Given the description of an element on the screen output the (x, y) to click on. 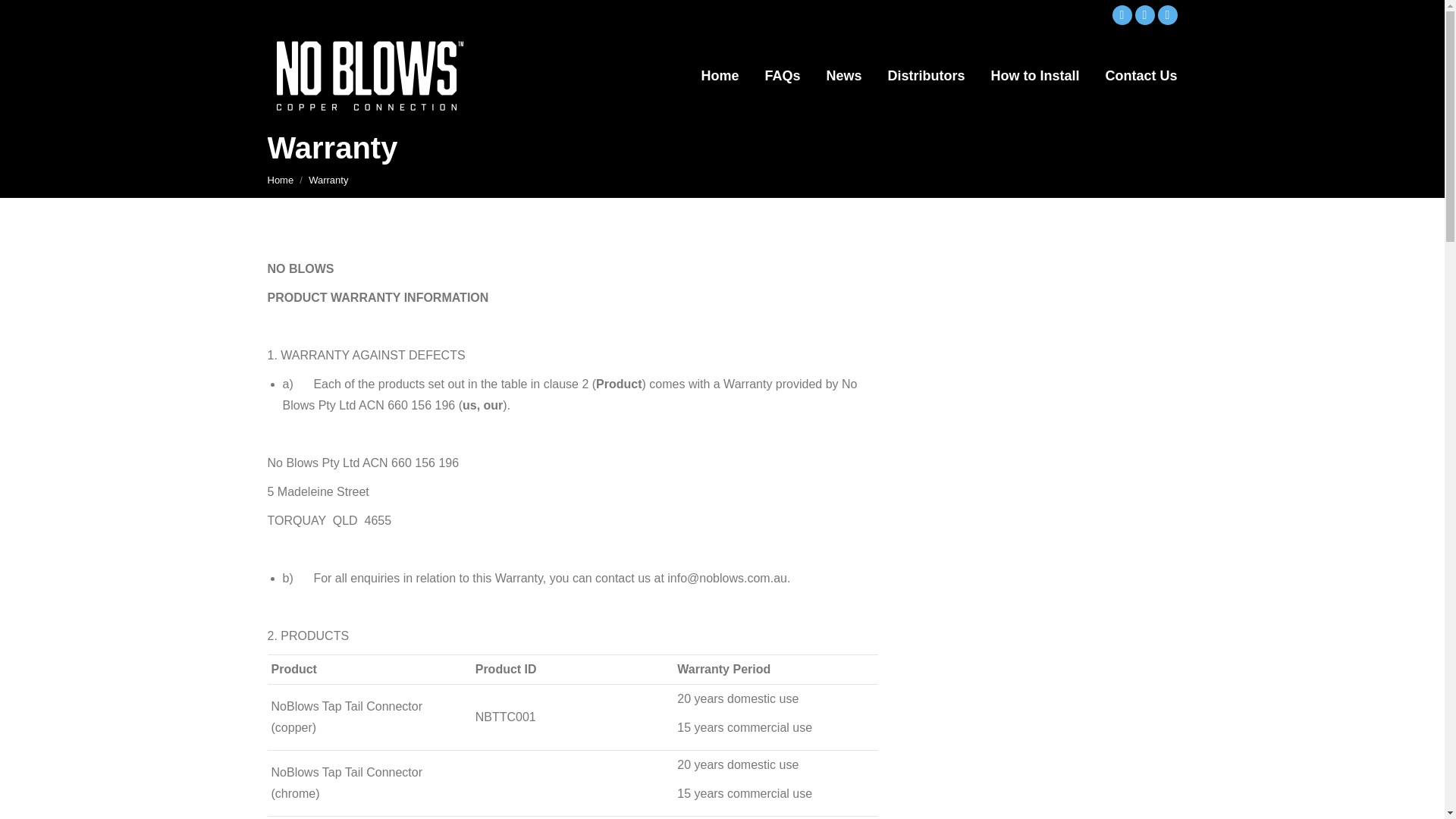
Distributors (924, 75)
Home (280, 179)
Instagram page opens in new window (1144, 14)
Facebook page opens in new window (1121, 14)
YouTube page opens in new window (1166, 14)
Contact Us (1140, 75)
Instagram page opens in new window (1144, 14)
Home (280, 179)
YouTube page opens in new window (1166, 14)
How to Install (1034, 75)
